Given the description of an element on the screen output the (x, y) to click on. 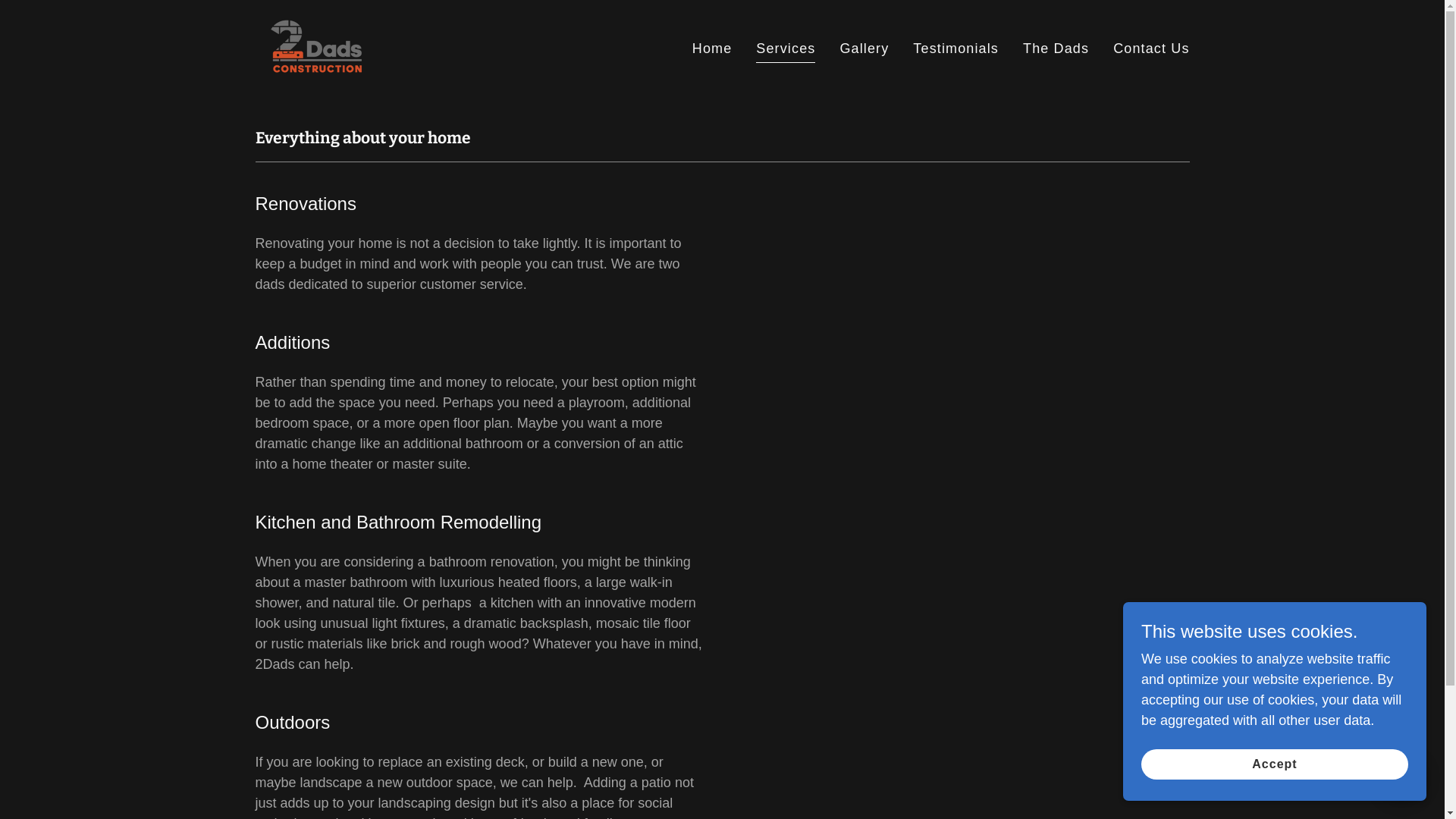
Accept Element type: text (1274, 764)
Renovations, additions, repairs Element type: hover (313, 47)
The Dads Element type: text (1055, 47)
Testimonials Element type: text (955, 47)
Home Element type: text (712, 47)
Services Element type: text (785, 49)
Contact Us Element type: text (1150, 47)
Gallery Element type: text (863, 47)
